Given the description of an element on the screen output the (x, y) to click on. 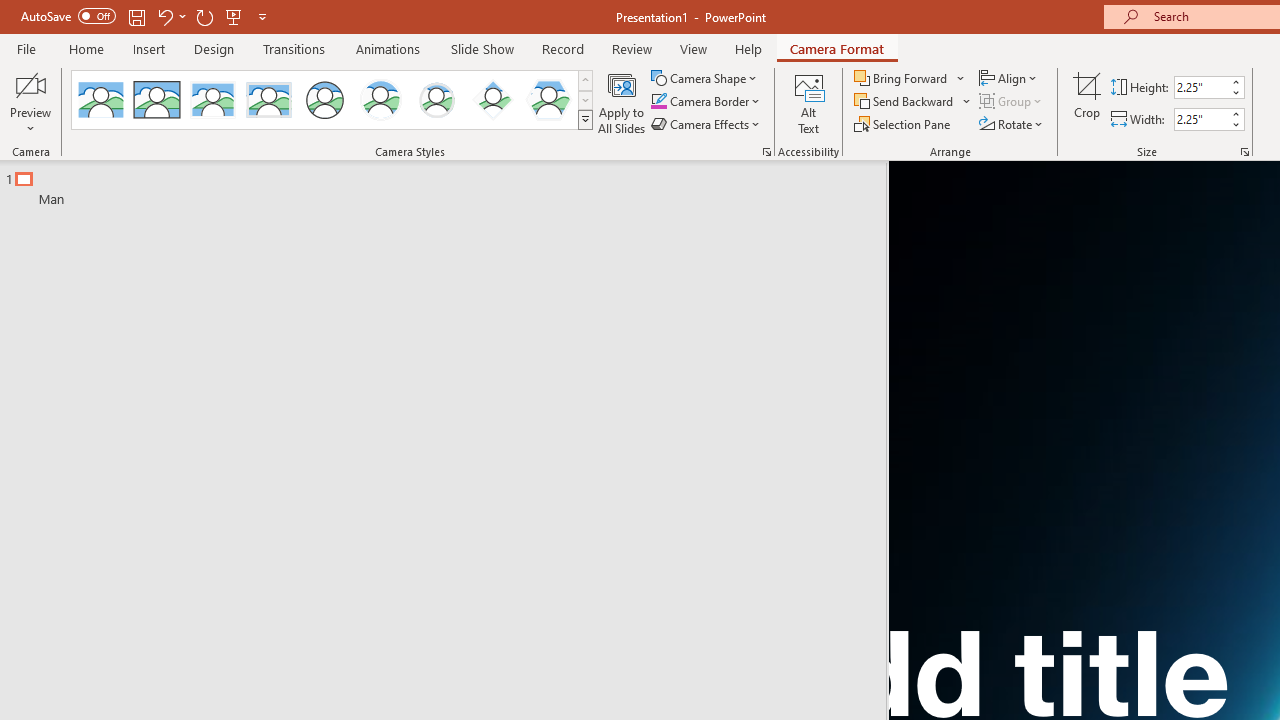
Soft Edge Rectangle (268, 100)
Simple Frame Circle (324, 100)
Soft Edge Circle (436, 100)
Center Shadow Hexagon (548, 100)
Cameo Width (1201, 119)
AutomationID: CameoStylesGallery (333, 99)
Center Shadow Circle (381, 100)
Camera Border (706, 101)
